Given the description of an element on the screen output the (x, y) to click on. 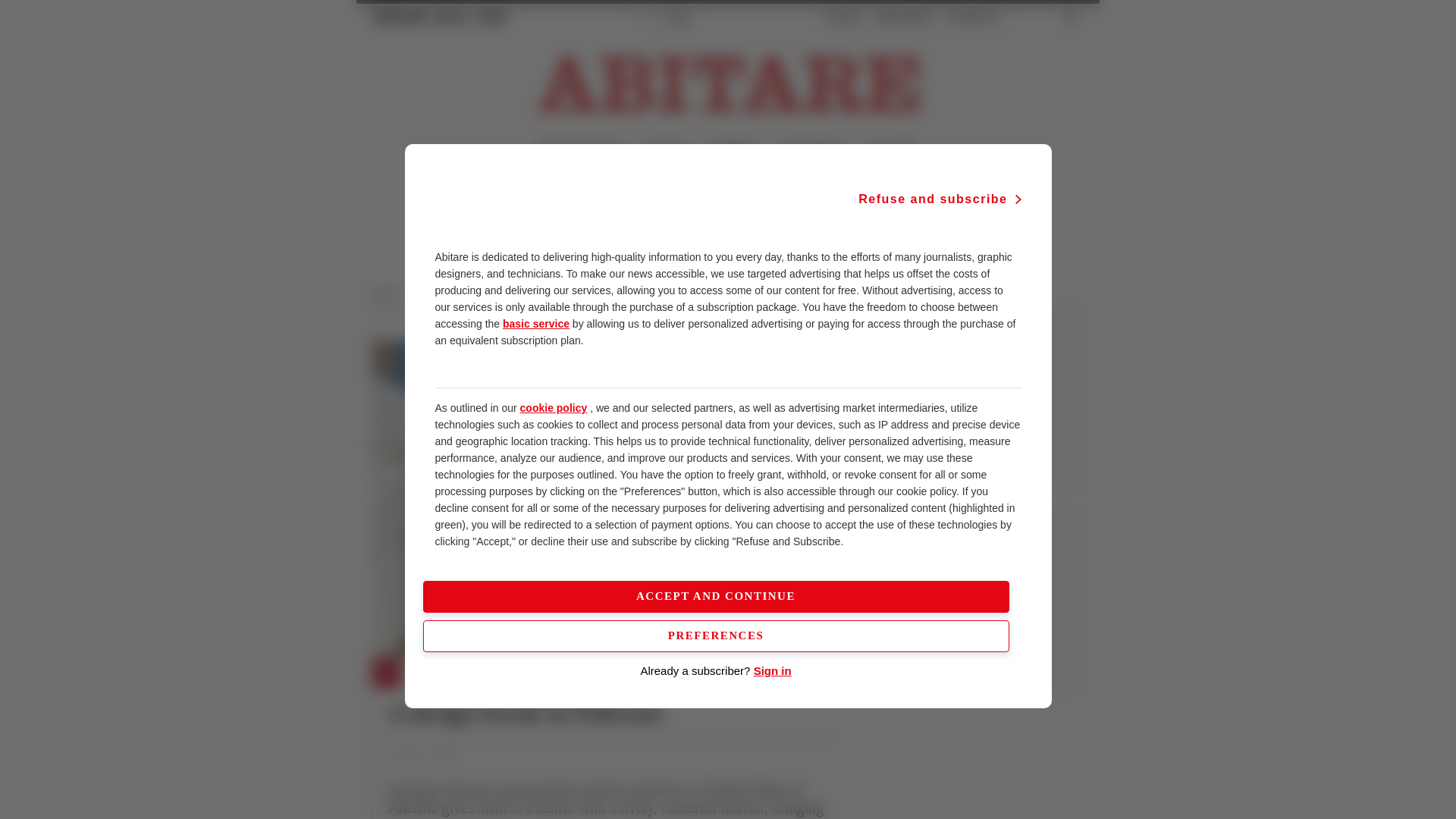
HABITAT (735, 150)
Projects (498, 294)
ARCHITECTURE (578, 150)
LOGIN (842, 18)
Abitare (390, 294)
CONTACT (972, 18)
RESEARCH (812, 150)
GALLERY (890, 150)
REGISTER (903, 18)
ITA (643, 18)
PROJECTS (439, 674)
Il Corriere della Sera (439, 17)
DESIGN (666, 150)
Architecture (442, 294)
Francesca Oddo (422, 753)
